Given the description of an element on the screen output the (x, y) to click on. 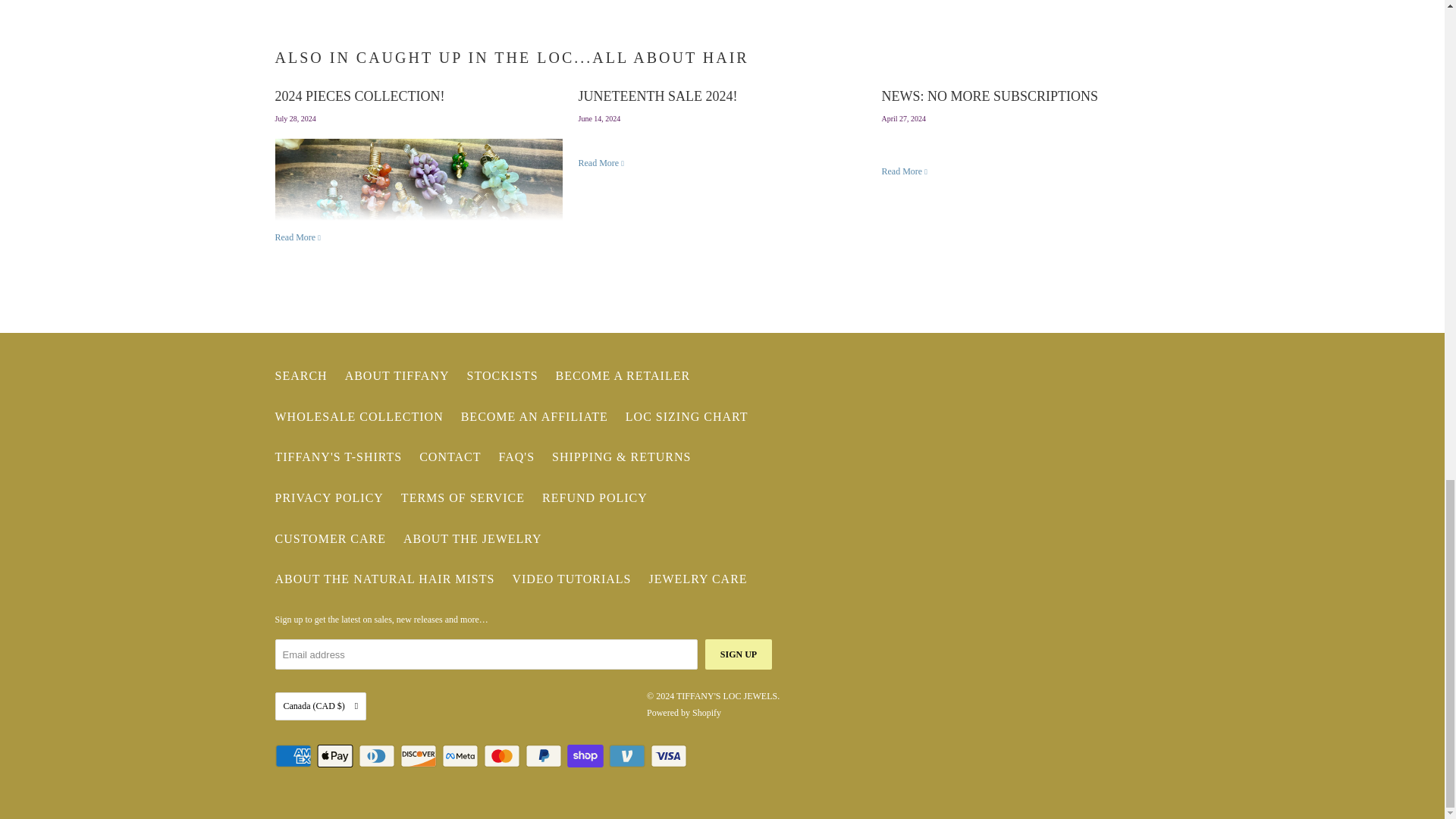
JUNETEENTH SALE 2024! (657, 96)
2024 PIECES COLLECTION! (359, 96)
PayPal (544, 755)
Diners Club (377, 755)
Sign Up (737, 654)
Shop Pay (587, 755)
2024 PIECES COLLECTION! (298, 236)
Venmo (627, 755)
American Express (294, 755)
JUNETEENTH SALE 2024! (601, 163)
NEWS: NO MORE SUBSCRIPTIONS (904, 171)
Discover (419, 755)
Visa (670, 755)
Mastercard (502, 755)
Meta Pay (460, 755)
